Given the description of an element on the screen output the (x, y) to click on. 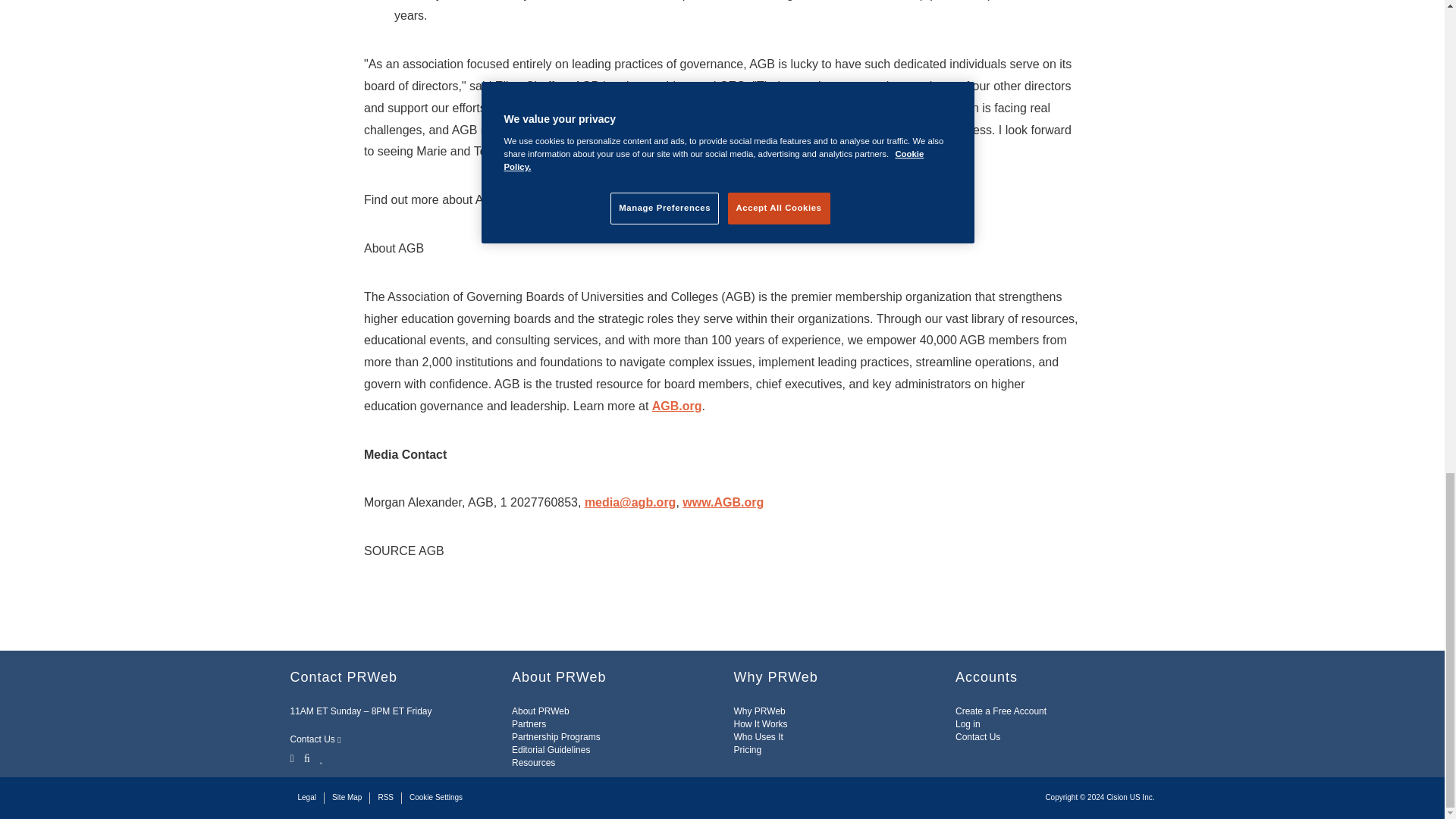
Editorial Guidelines (550, 749)
Facebook (306, 757)
LinkedIn (321, 757)
Partnership Programs (555, 737)
Resources (533, 762)
Who Uses It (758, 737)
How It Works (760, 724)
Partners (529, 724)
Why PRWeb (759, 710)
Twitter (293, 757)
About PRWeb (540, 710)
